Given the description of an element on the screen output the (x, y) to click on. 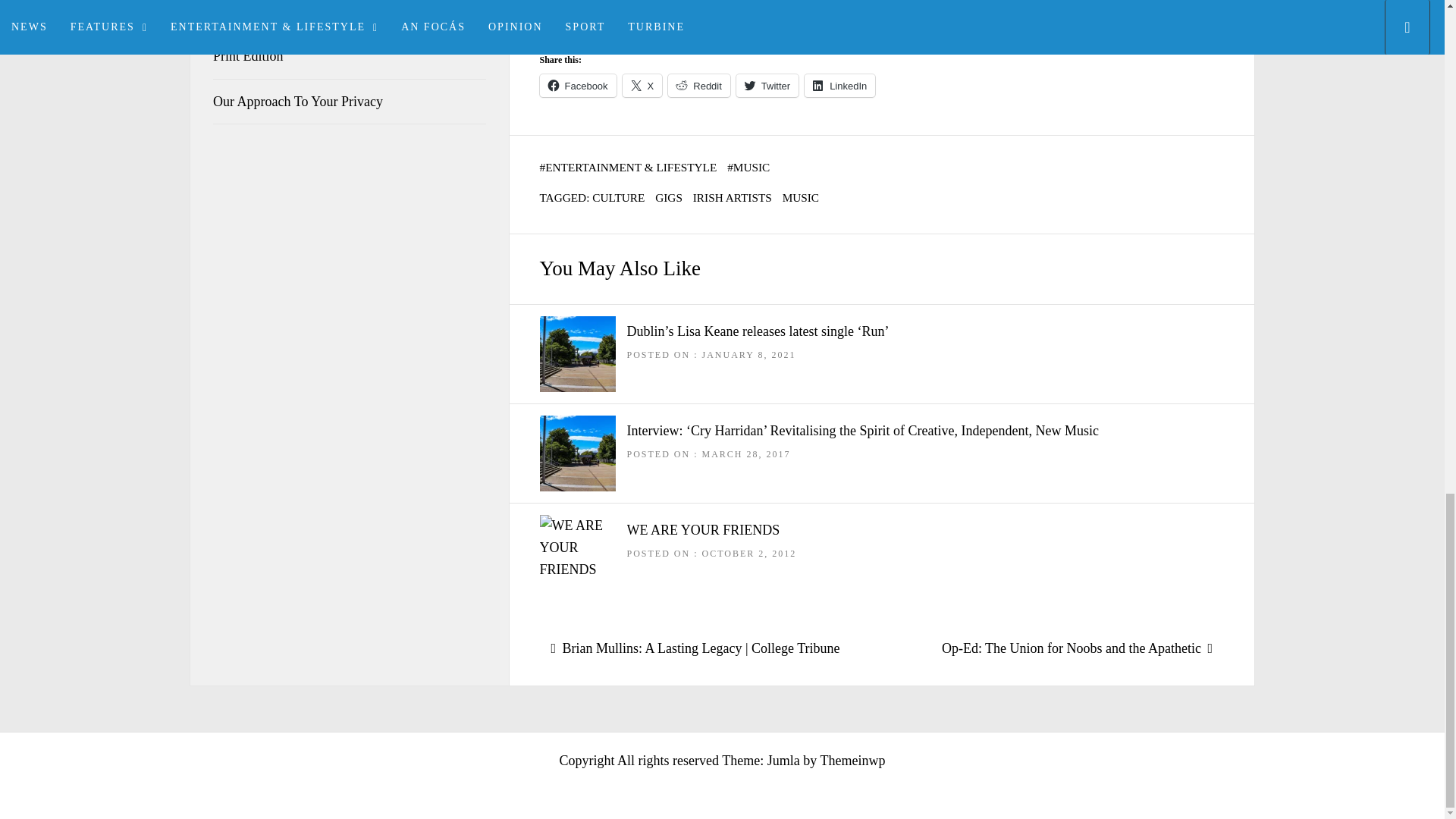
Click to share on LinkedIn (840, 85)
Facebook (577, 85)
Reddit (699, 85)
Click to share on X (642, 85)
Click to share on Facebook (577, 85)
Click to share on Twitter (766, 85)
X (642, 85)
Click to share on Reddit (699, 85)
Twitter (766, 85)
